Given the description of an element on the screen output the (x, y) to click on. 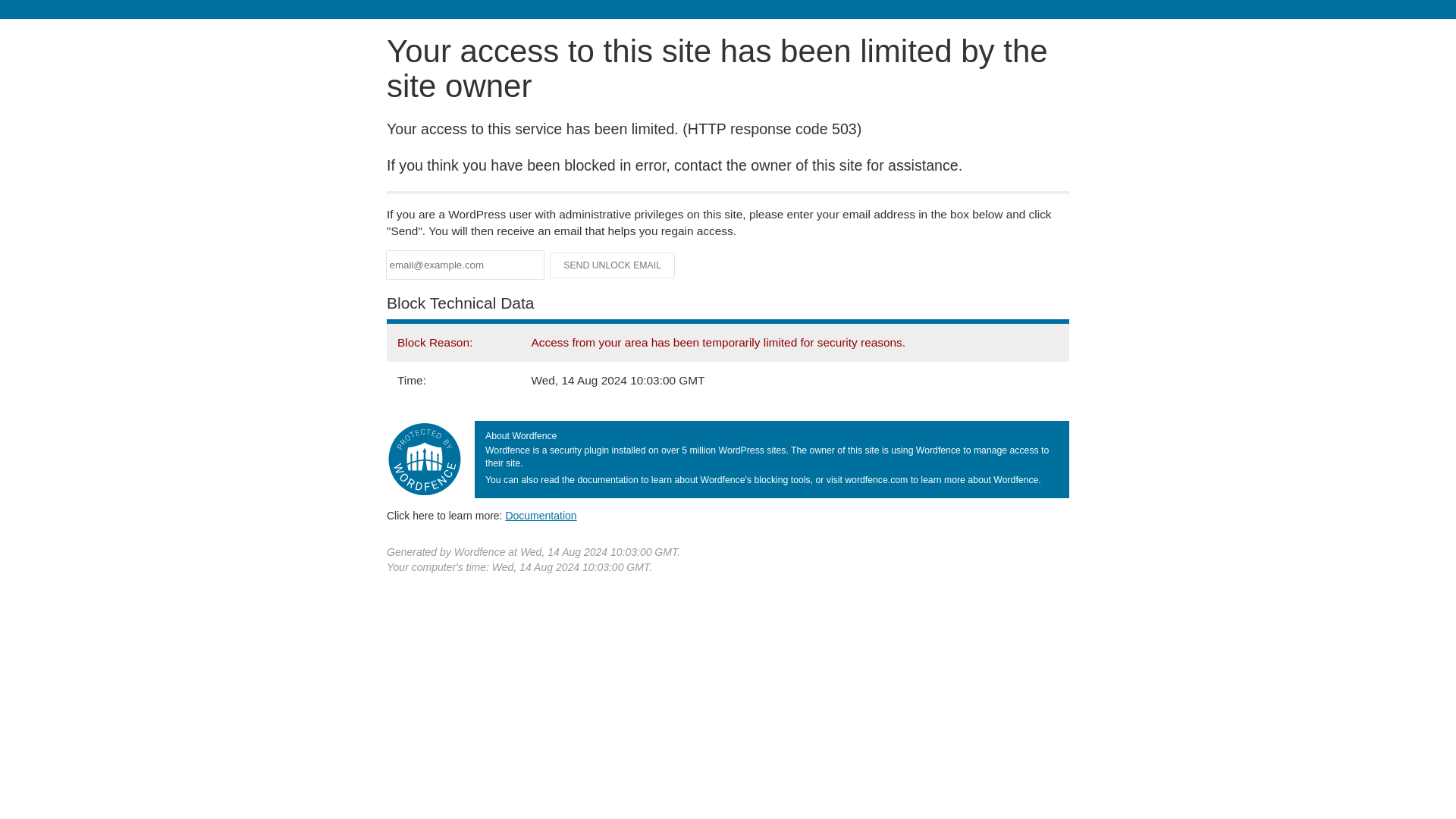
Documentation (540, 515)
Send Unlock Email (612, 265)
Send Unlock Email (612, 265)
